Given the description of an element on the screen output the (x, y) to click on. 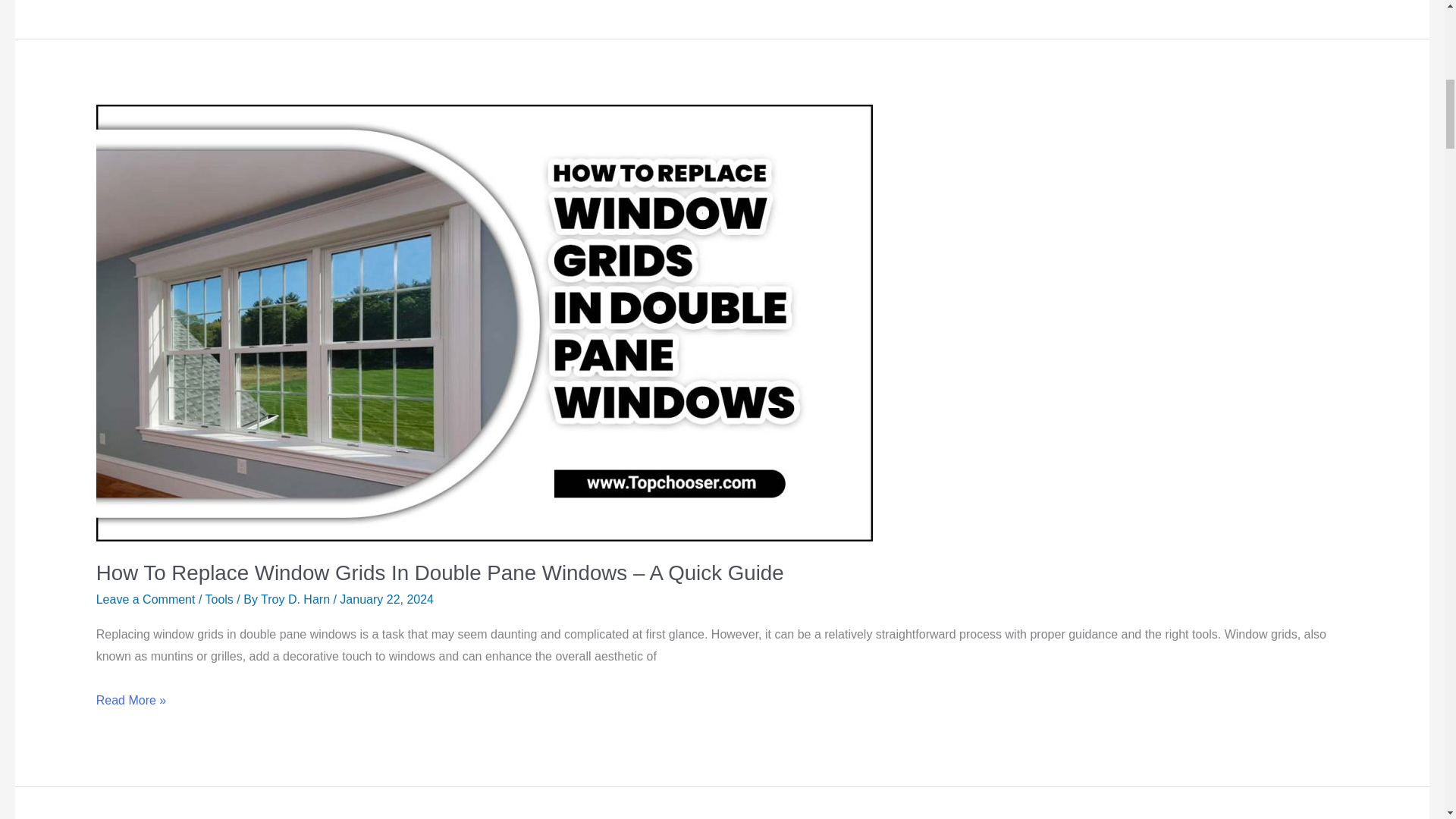
View all posts by Troy D. Harn (296, 599)
Troy D. Harn (296, 599)
Tools (218, 599)
Leave a Comment (145, 599)
